Given the description of an element on the screen output the (x, y) to click on. 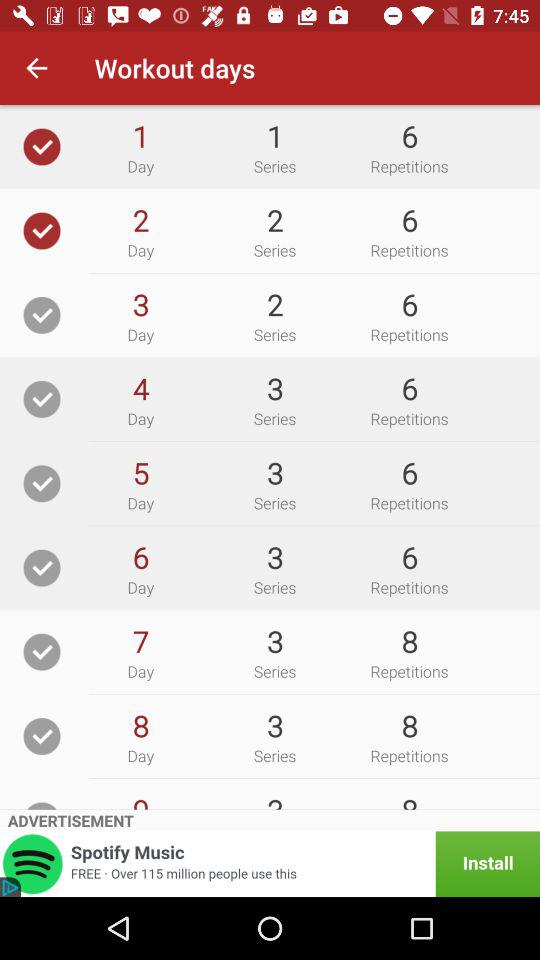
mark completed (41, 483)
